Given the description of an element on the screen output the (x, y) to click on. 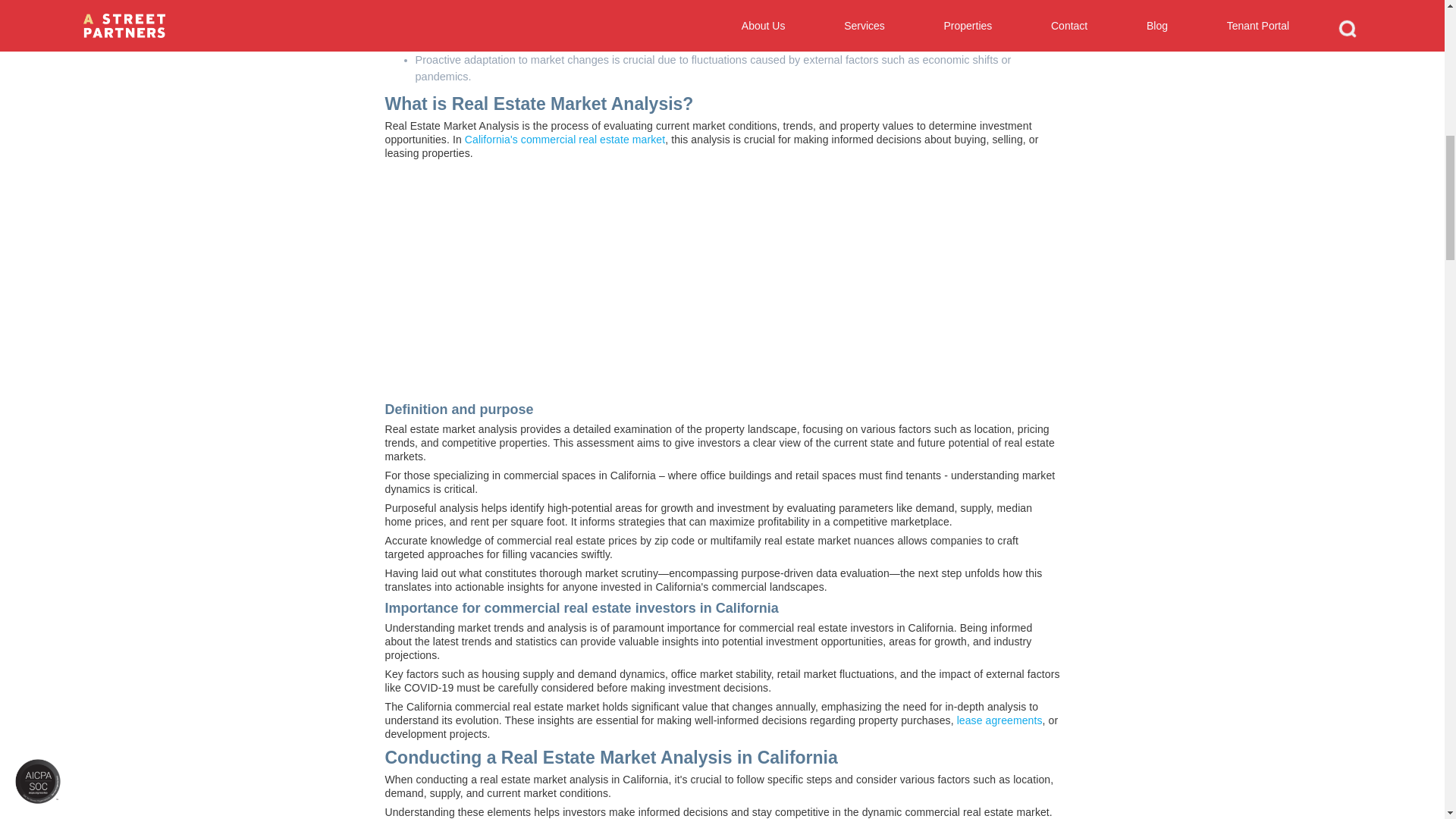
California's commercial real estate market (564, 139)
lease agreements (999, 720)
